Given the description of an element on the screen output the (x, y) to click on. 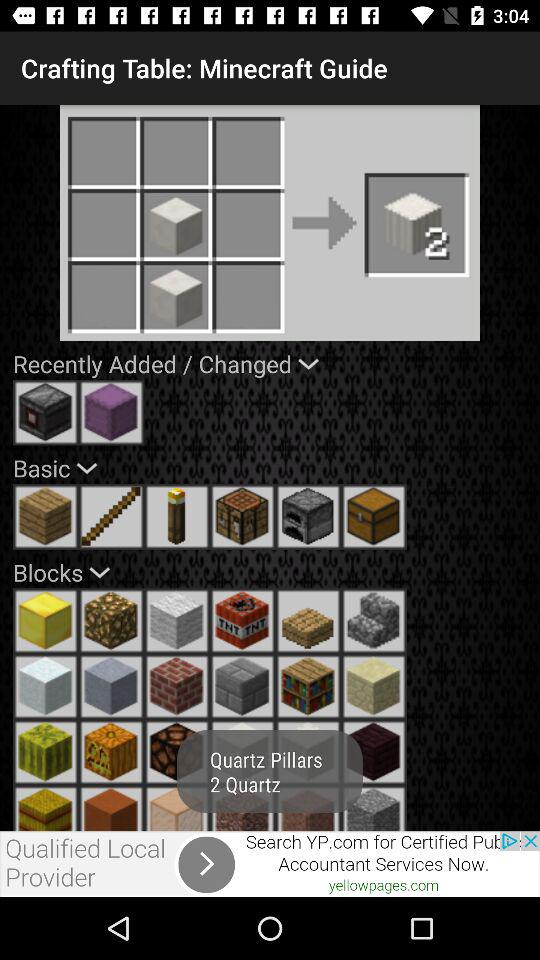
select block (45, 621)
